Given the description of an element on the screen output the (x, y) to click on. 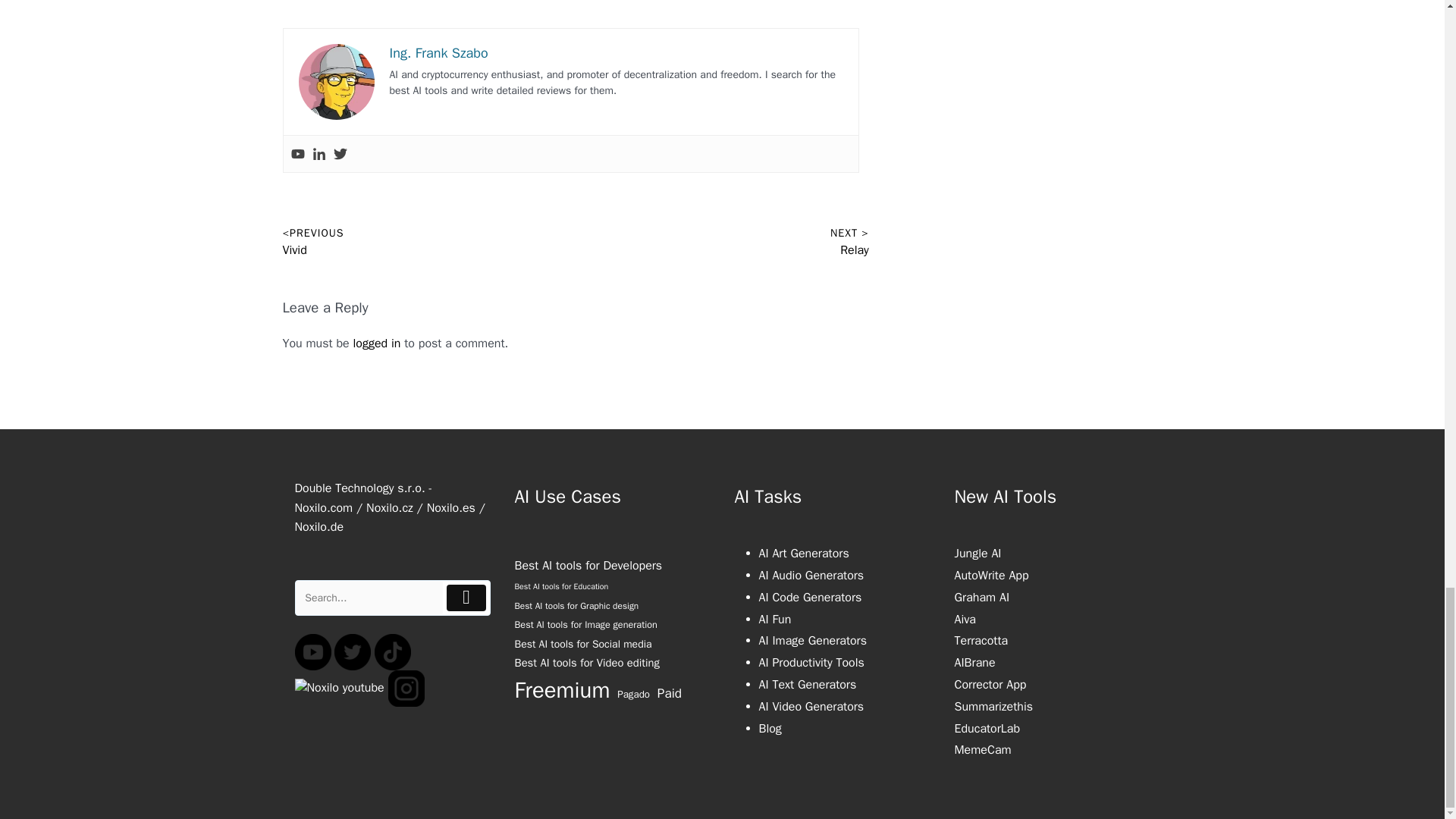
Youtube (297, 153)
Search (369, 597)
Ing. Frank Szabo (438, 53)
Linkedin (319, 153)
logged in (377, 343)
Twitter (340, 153)
